Given the description of an element on the screen output the (x, y) to click on. 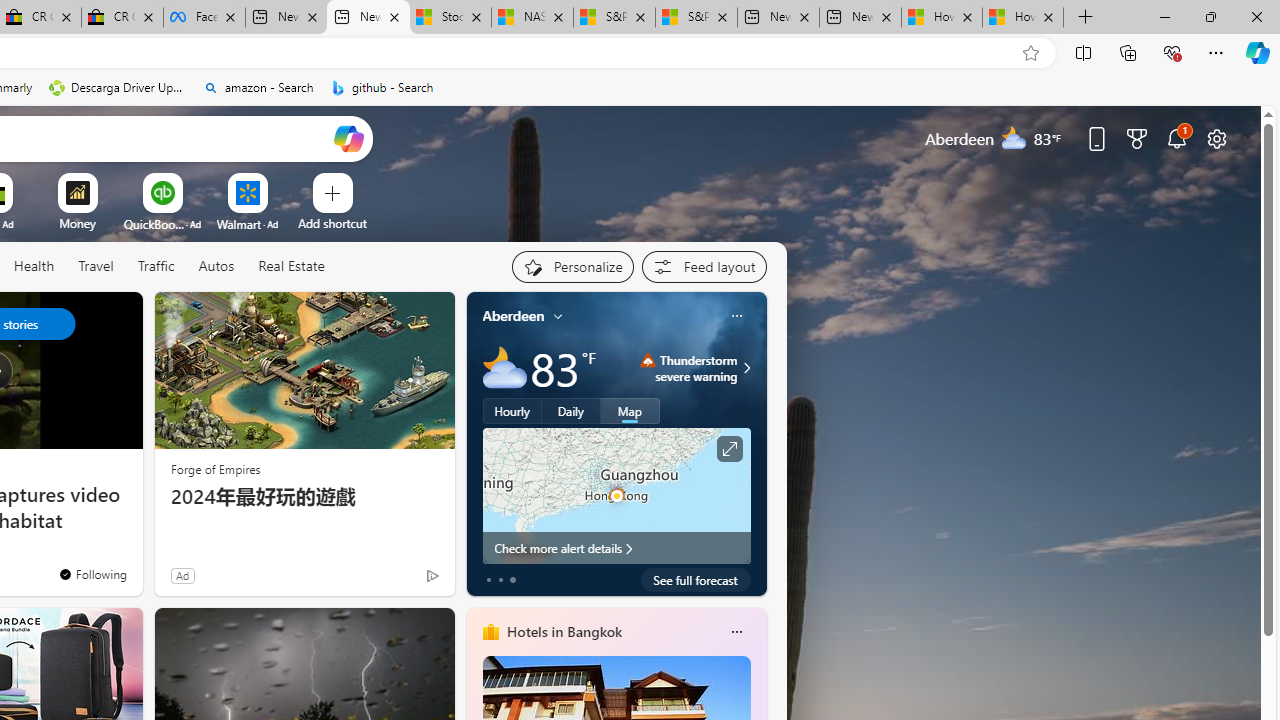
Click to see more information (728, 449)
Hourly (511, 411)
Traffic (155, 267)
How to Use a Monitor With Your Closed Laptop (1023, 17)
Personalize your feed" (571, 266)
hotels-header-icon (490, 632)
Daily (571, 411)
